Given the description of an element on the screen output the (x, y) to click on. 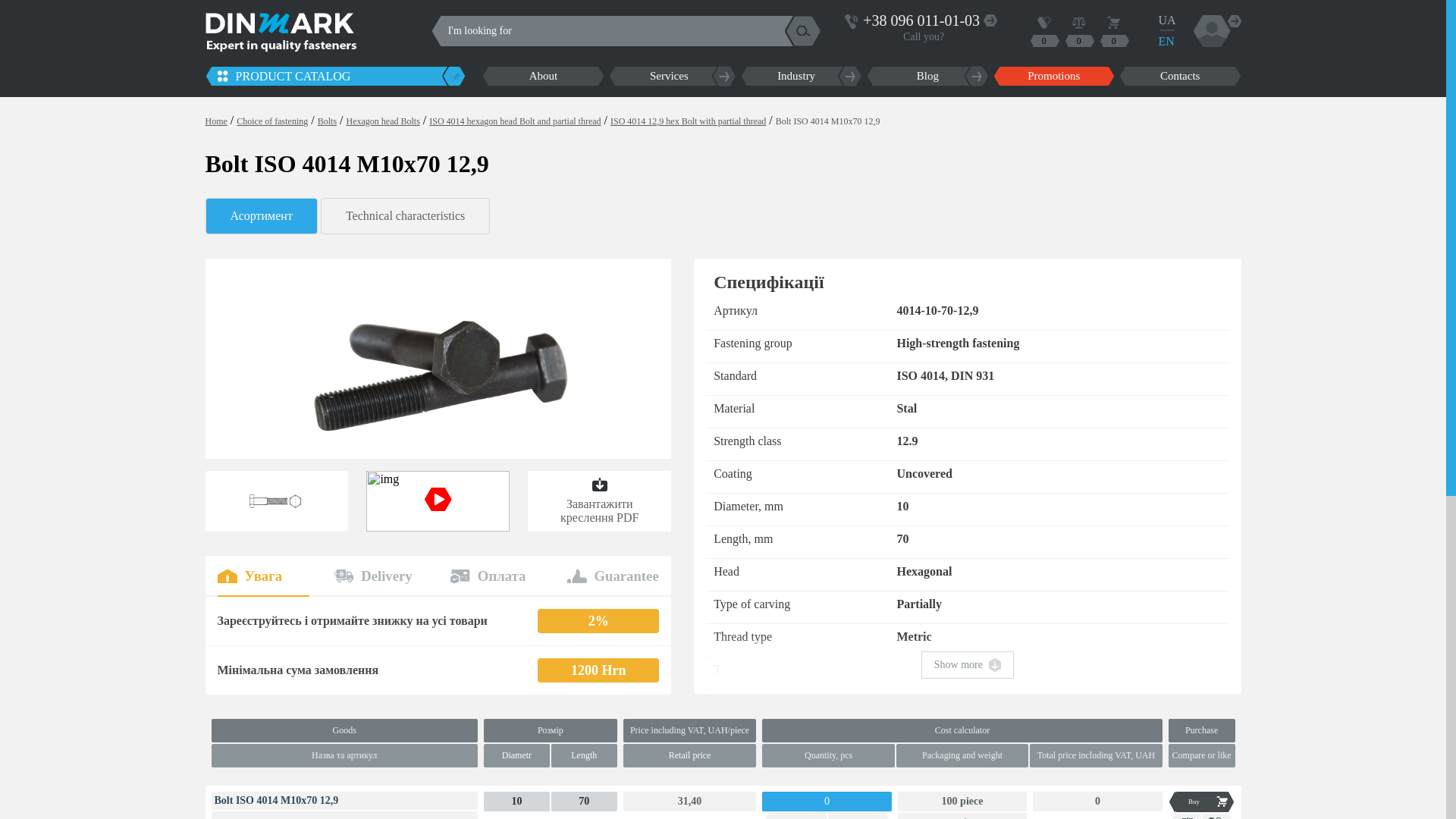
0 (1078, 30)
Industry (801, 75)
0 (1113, 30)
EN (1165, 41)
About (542, 75)
Contacts (1179, 75)
UA (1165, 20)
PRODUCT CATALOG (326, 75)
Add to compare (1185, 816)
Call you? (923, 34)
Promotions (1053, 75)
Add to favorites (1218, 816)
0 (1043, 30)
